Given the description of an element on the screen output the (x, y) to click on. 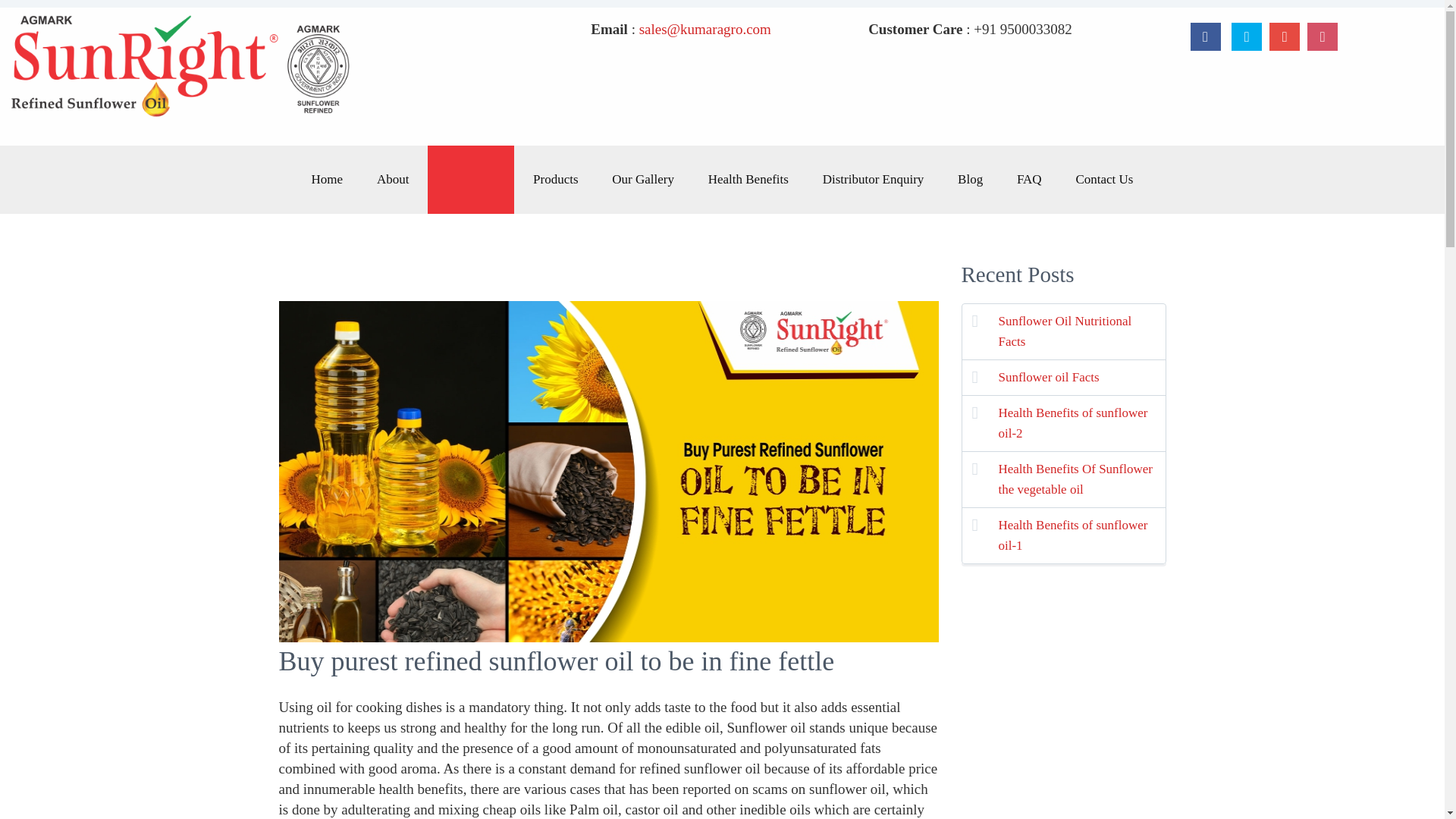
Our Gallery (642, 179)
Contact Us (1103, 179)
Distributor Enquiry (873, 179)
Sunflower Oil Nutritional Facts (1080, 327)
Health Benefits of sunflower oil-1 (1080, 531)
Twitter (1246, 36)
Health Benefits of sunflower oil-2 (1080, 419)
You Tube (1284, 36)
Facebook (1206, 36)
Shop Now (470, 179)
Sunflower oil Facts (1080, 373)
About (393, 179)
Health Benefits Of Sunflower the vegetable oil (1080, 475)
Products (556, 179)
Instagram (1322, 36)
